Given the description of an element on the screen output the (x, y) to click on. 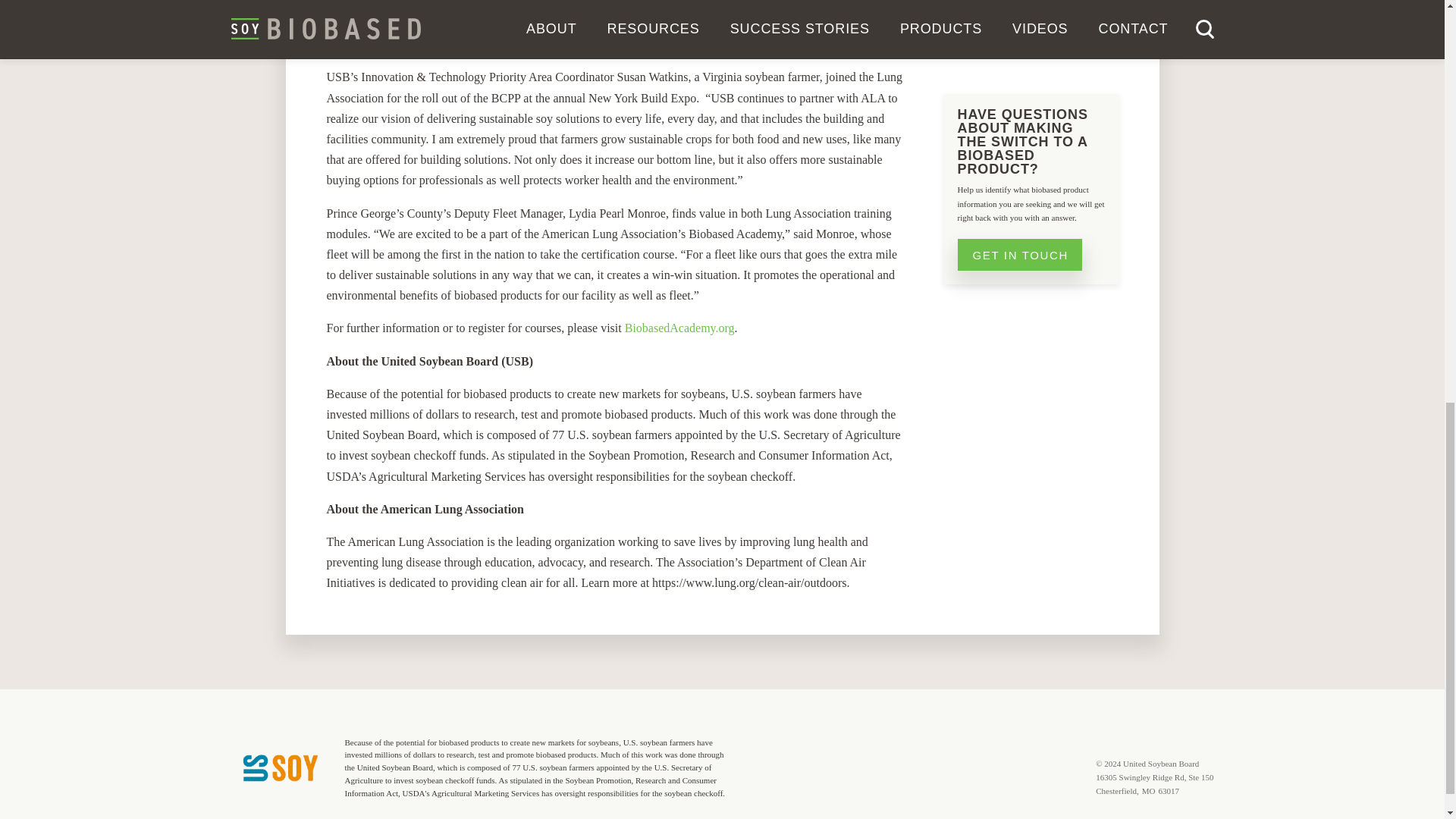
BiobasedAcademy.org (679, 327)
